Given the description of an element on the screen output the (x, y) to click on. 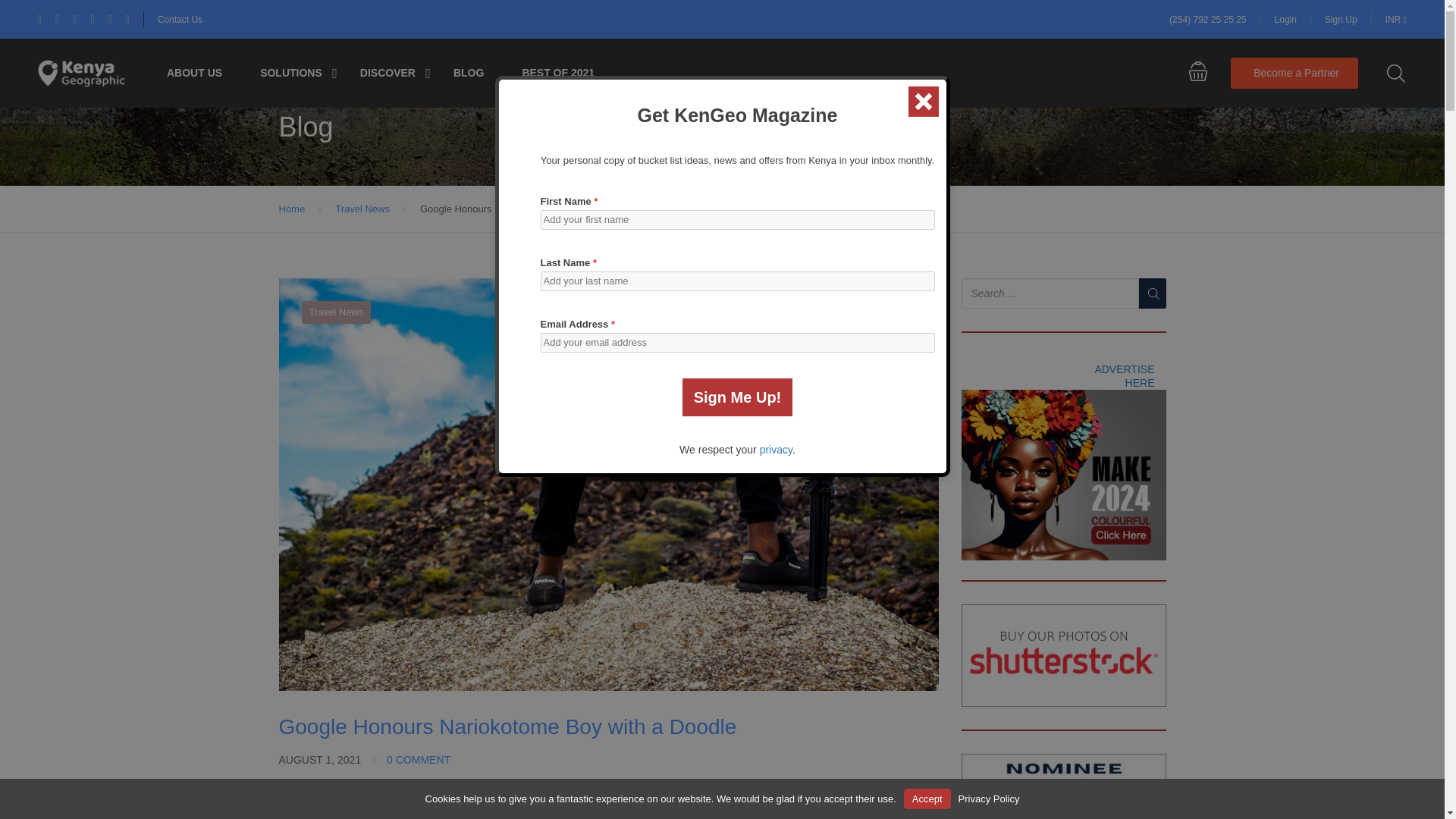
BEST OF 2021 (557, 72)
BLOG (467, 72)
Sign Up (1340, 18)
Login (1286, 18)
Contact Us (179, 19)
INR (1396, 18)
SOLUTIONS (290, 72)
DISCOVER (386, 72)
ABOUT US (194, 72)
